Given the description of an element on the screen output the (x, y) to click on. 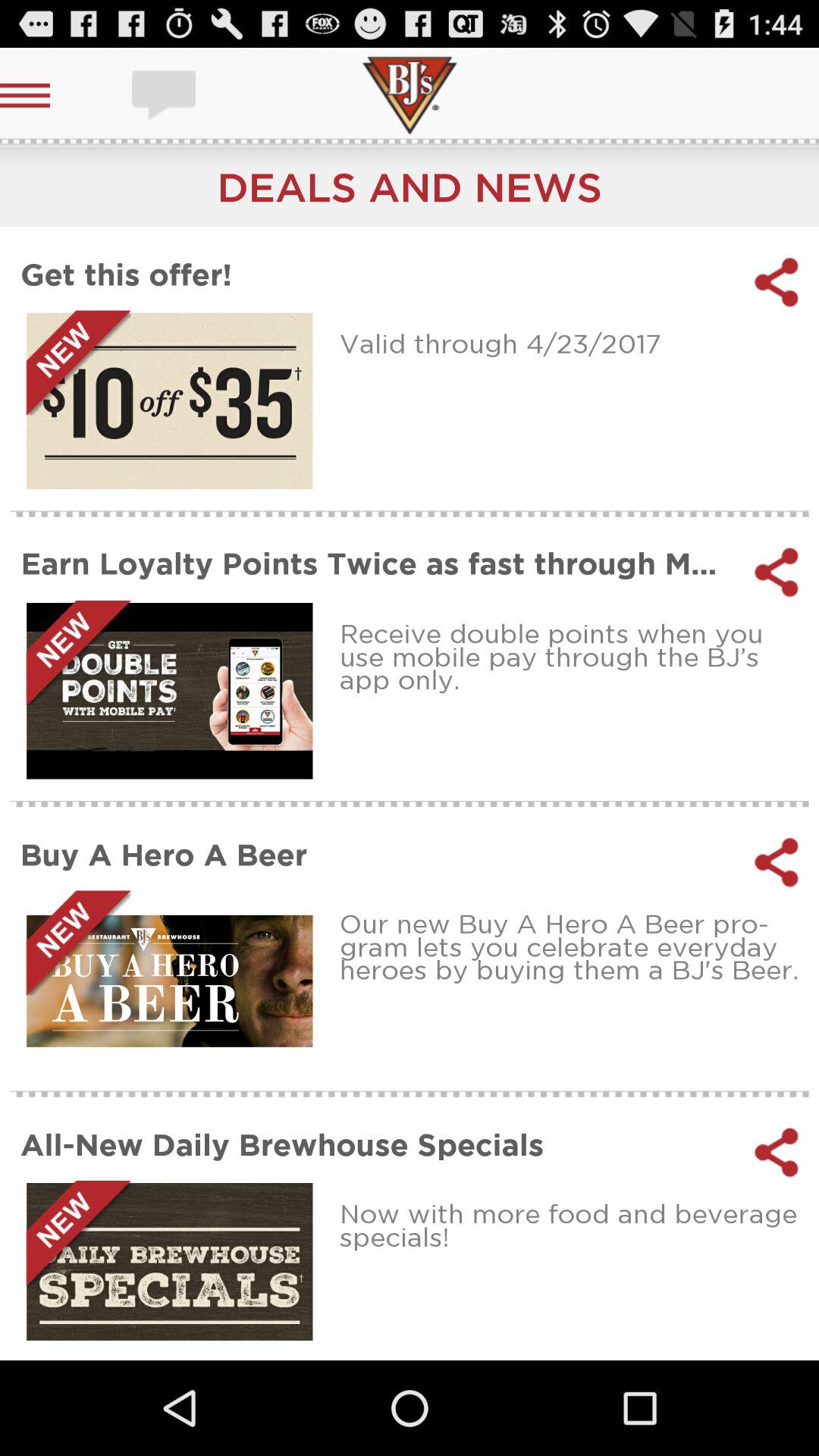
share the offer (776, 282)
